Given the description of an element on the screen output the (x, y) to click on. 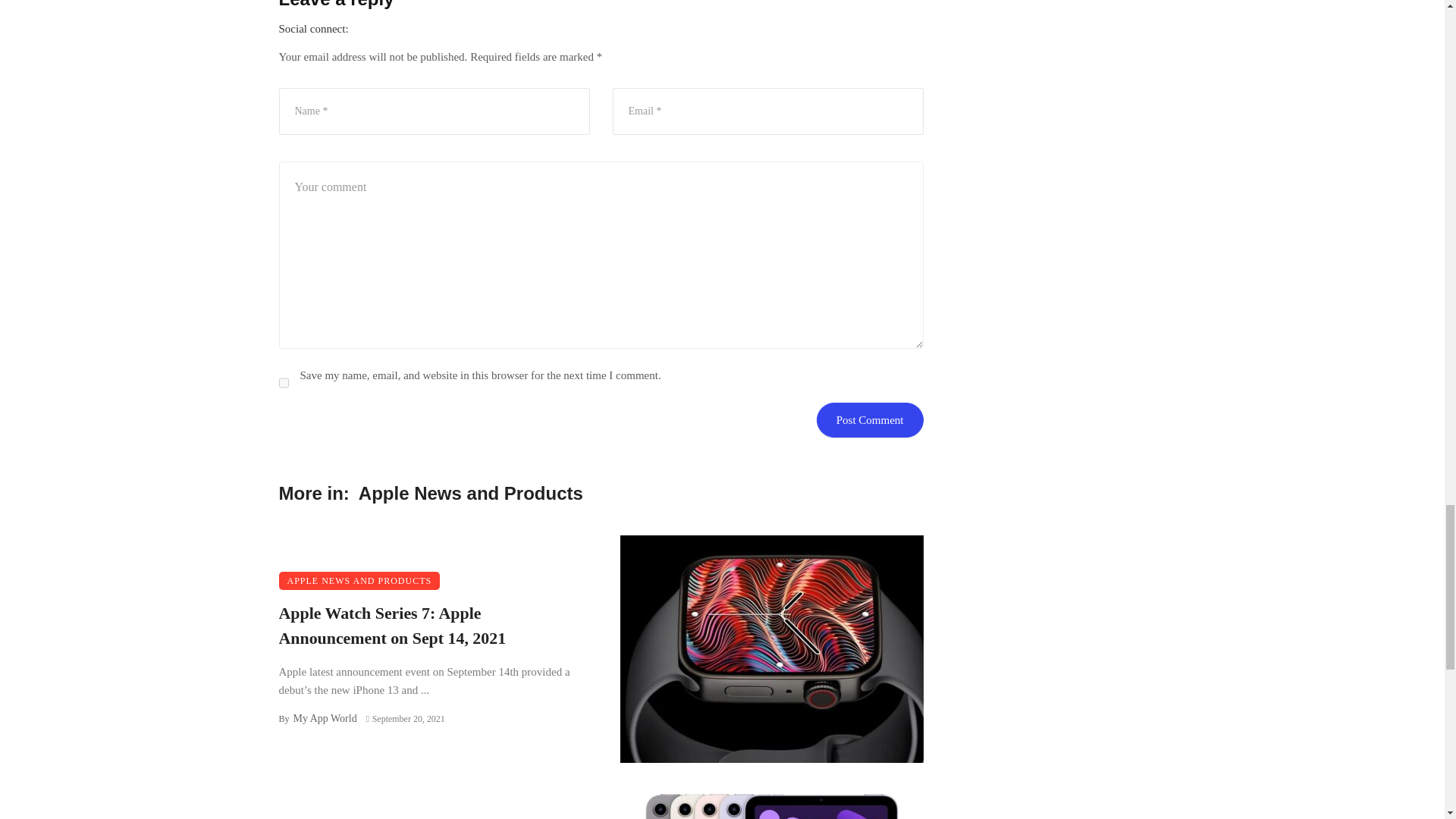
yes (283, 382)
Post Comment (869, 419)
